Given the description of an element on the screen output the (x, y) to click on. 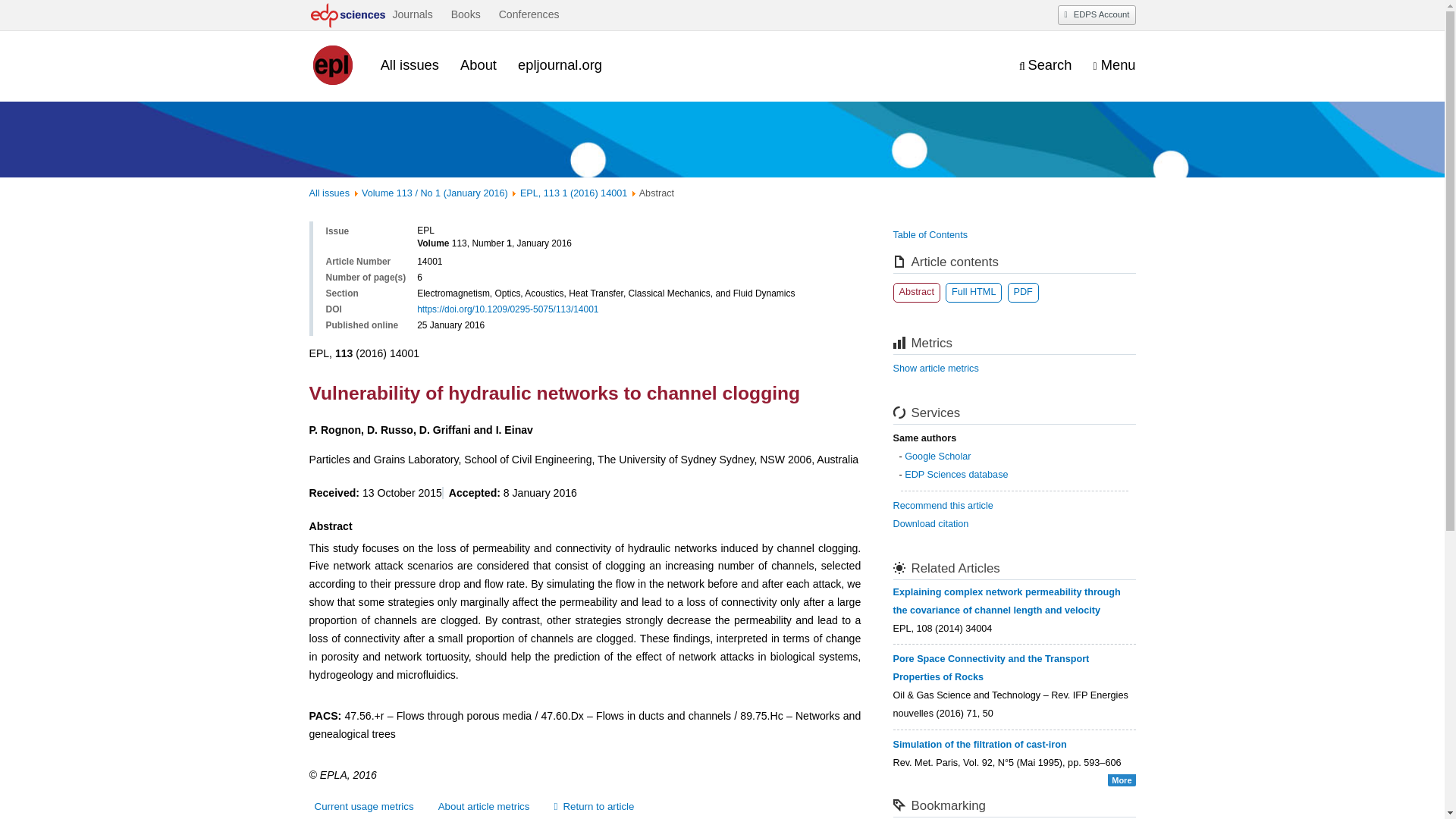
Journal homepage (333, 65)
Full HTML (972, 292)
All issues (409, 65)
epljournal.org (560, 65)
All issues (328, 193)
About (478, 65)
Menu (1114, 66)
PDF (1022, 292)
Journals (411, 14)
Abstract (916, 292)
Conferences (529, 14)
Books (465, 14)
Display the search engine (1045, 66)
